Given the description of an element on the screen output the (x, y) to click on. 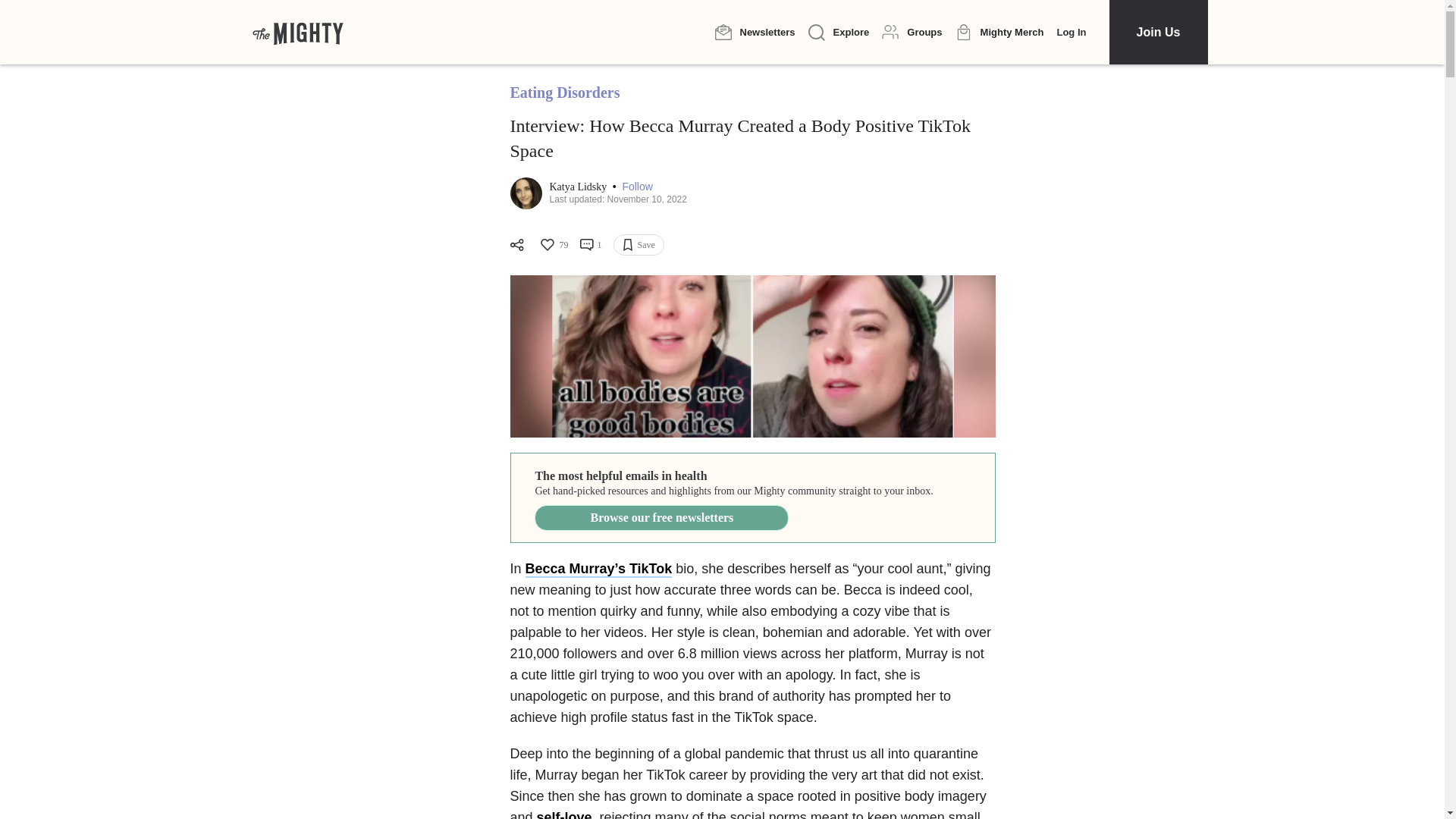
Mighty Merch (999, 32)
Eating Disorders (564, 92)
Browse our free newsletters (661, 517)
Newsletters (754, 31)
self-love (564, 814)
Join Us (1157, 32)
Save (637, 244)
Explore (838, 32)
79 (552, 244)
1 (590, 244)
Groups (912, 32)
Katya Lidsky (578, 186)
Follow (636, 186)
The Mighty (296, 32)
